Given the description of an element on the screen output the (x, y) to click on. 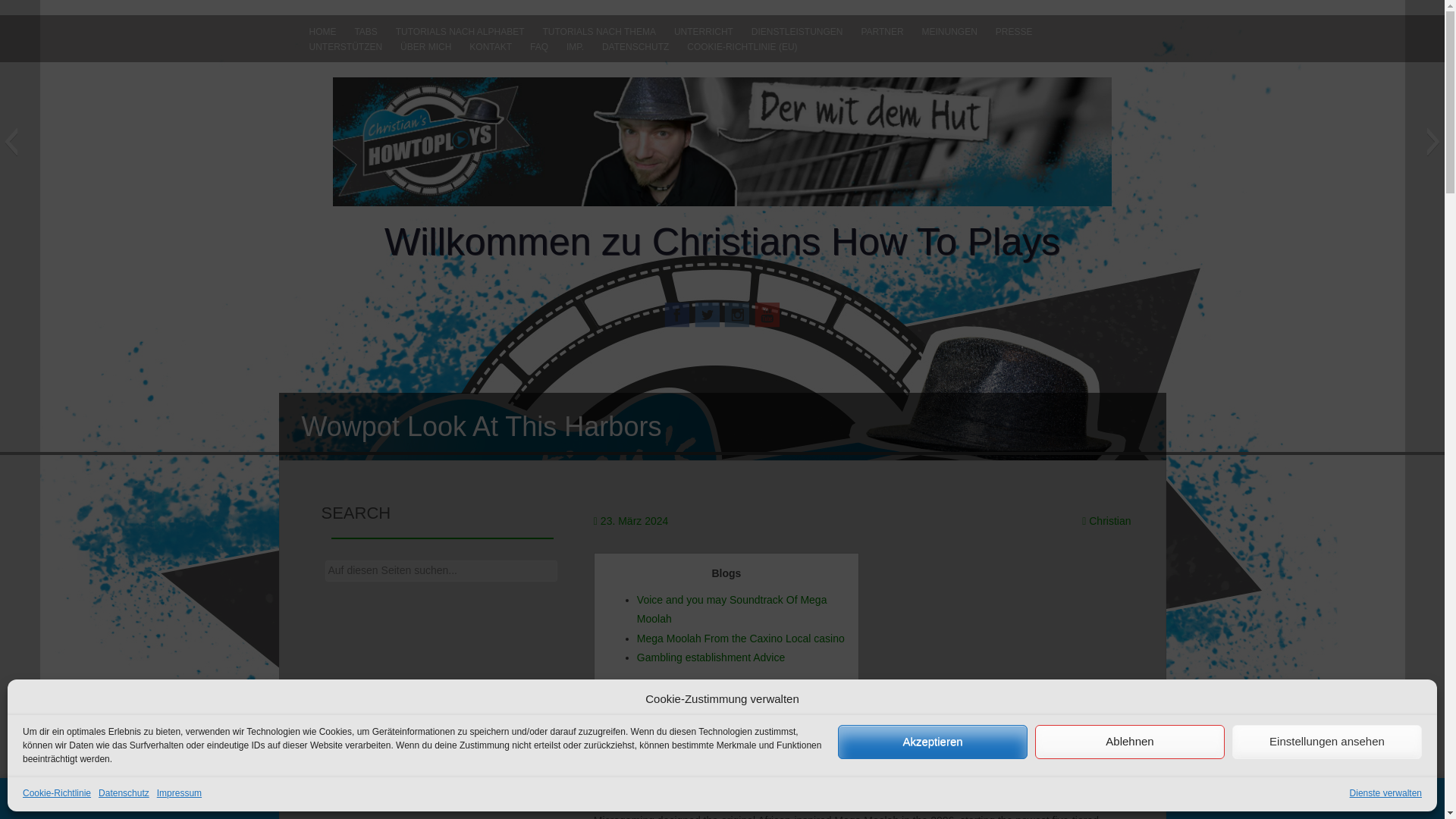
YouTube (767, 313)
TUTORIALS NACH THEMA (598, 31)
Ablehnen (1129, 741)
Cookie-Richtlinie (56, 793)
KONTAKT (490, 46)
PARTNER (882, 31)
Dienste verwalten (1385, 793)
IMP. (575, 46)
Facebook (676, 313)
Twitter (707, 313)
